Given the description of an element on the screen output the (x, y) to click on. 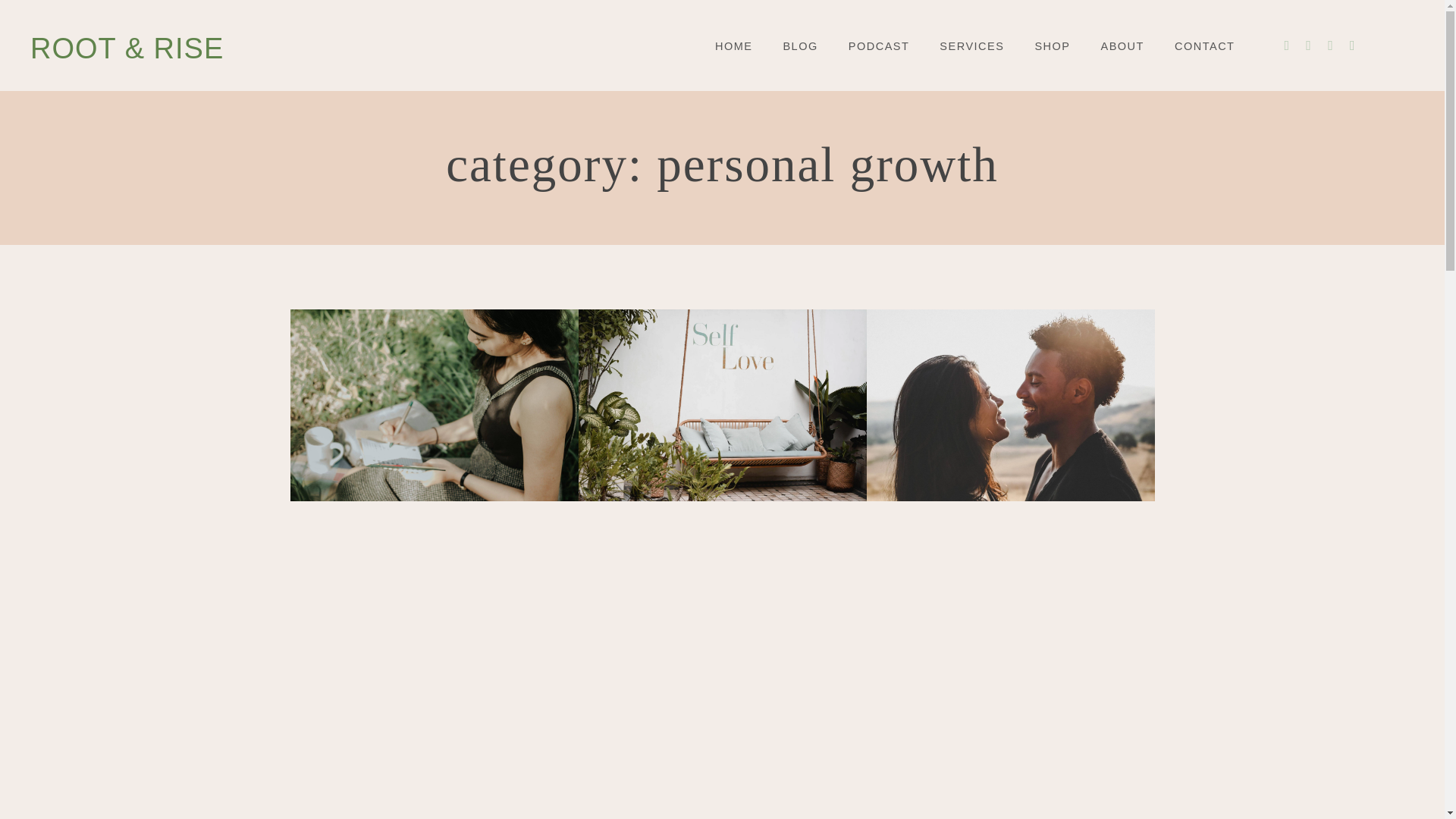
ABOUT (1122, 46)
SHOP (1051, 46)
HOME (733, 46)
PODCAST (879, 46)
CONTACT (1204, 46)
SERVICES (971, 46)
BLOG (799, 46)
